Given the description of an element on the screen output the (x, y) to click on. 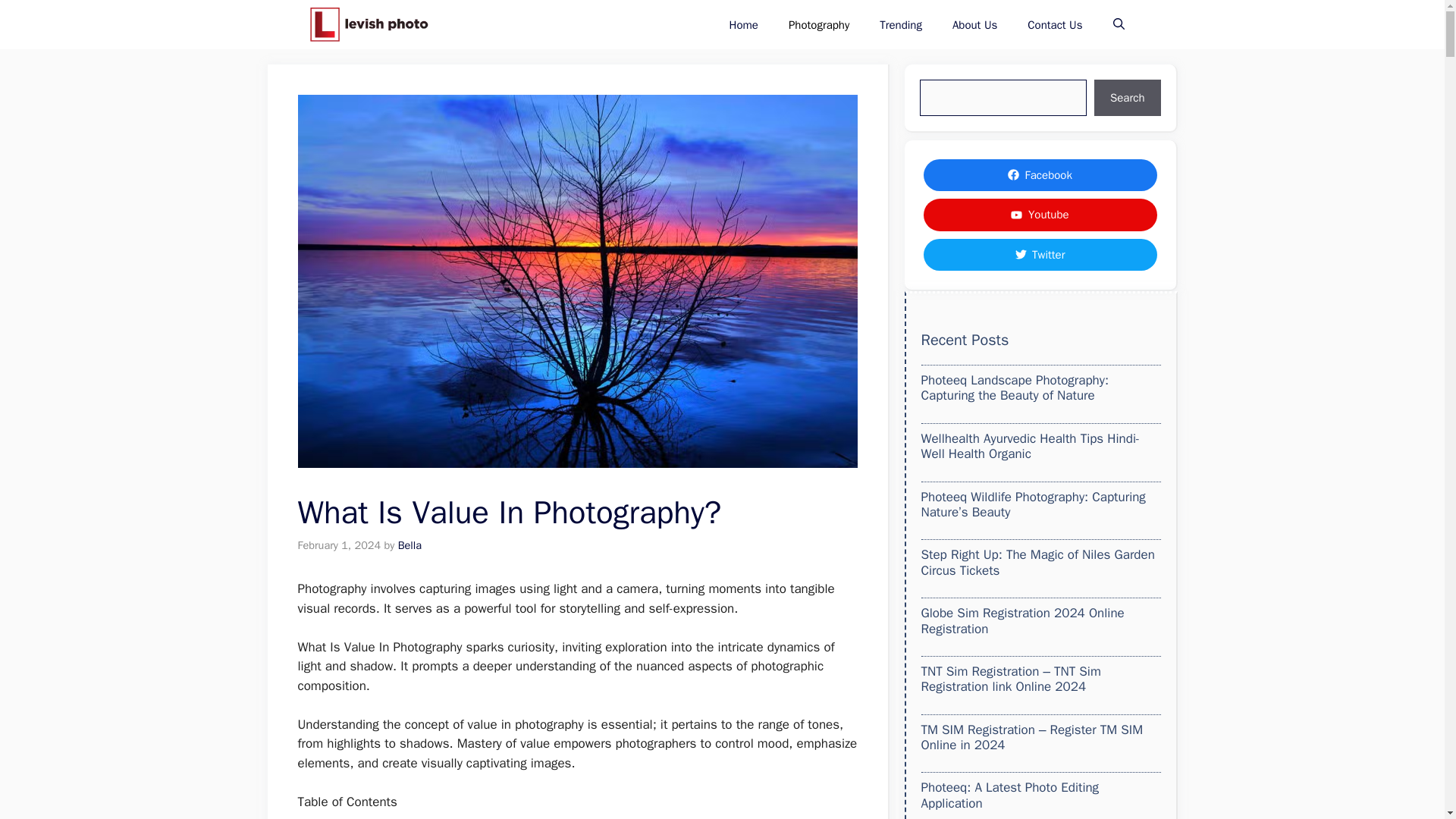
View all posts by Bella (409, 545)
About Us (974, 23)
Bella (409, 545)
Contact Us (1054, 23)
Trending (900, 23)
Home (743, 23)
Levish Photos (368, 24)
Photography (818, 23)
